Given the description of an element on the screen output the (x, y) to click on. 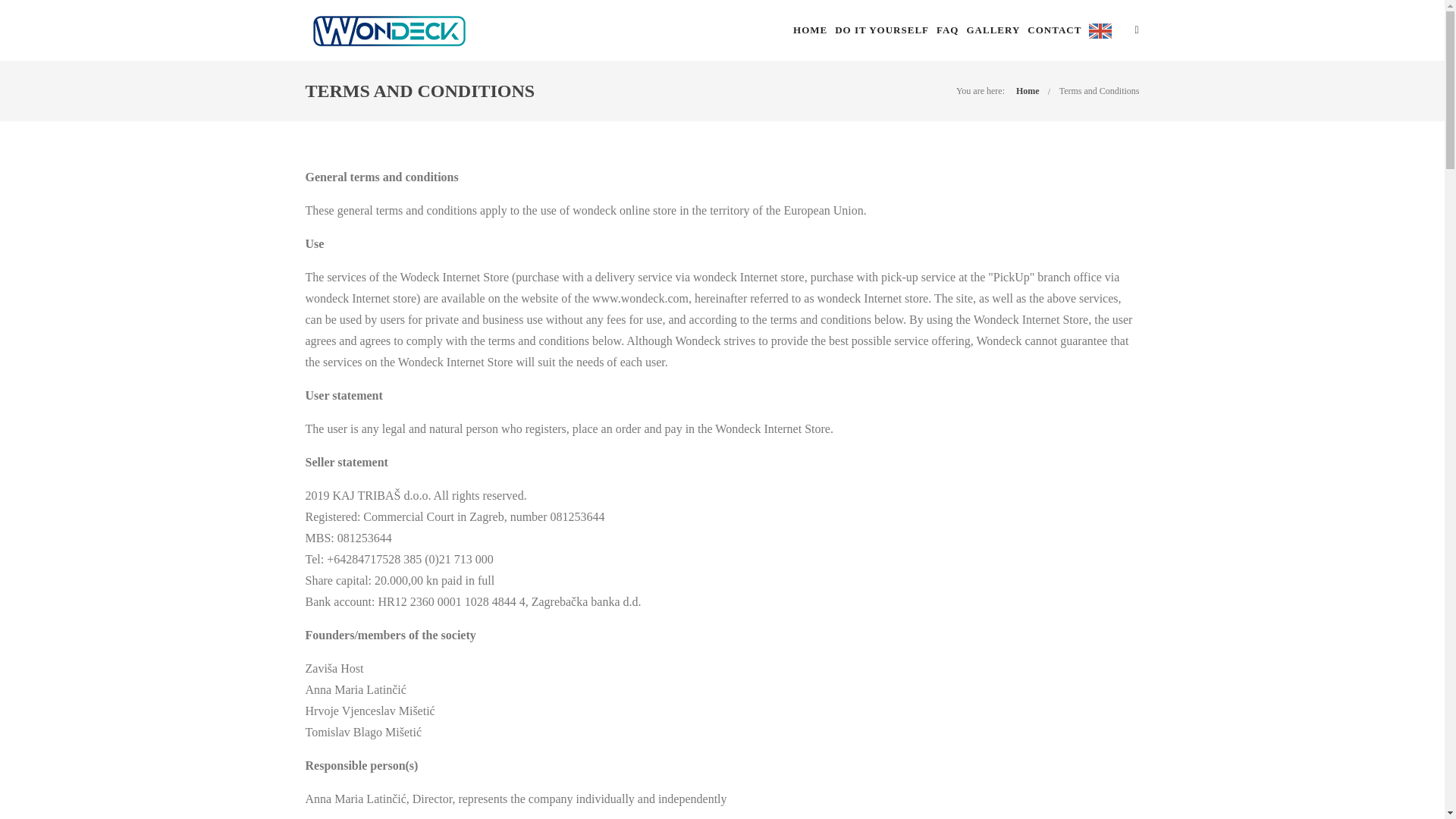
HOME (810, 30)
DO IT YOURSELF (881, 30)
English (1104, 30)
CONTACT (1054, 30)
GALLERY (993, 30)
Home (1027, 90)
FAQ (947, 30)
Terms and Conditions (1099, 90)
